Given the description of an element on the screen output the (x, y) to click on. 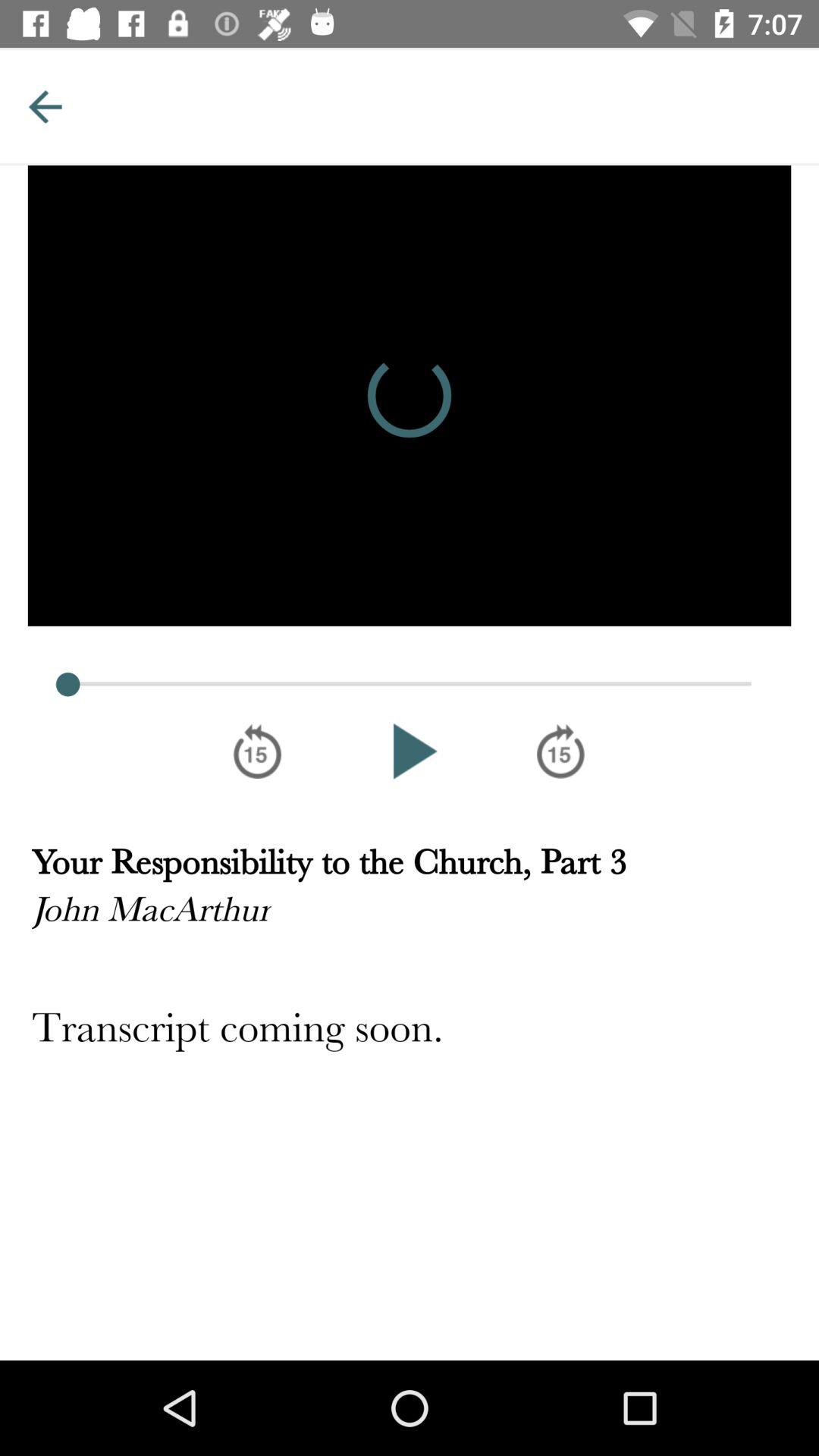
fast forward (560, 751)
